Given the description of an element on the screen output the (x, y) to click on. 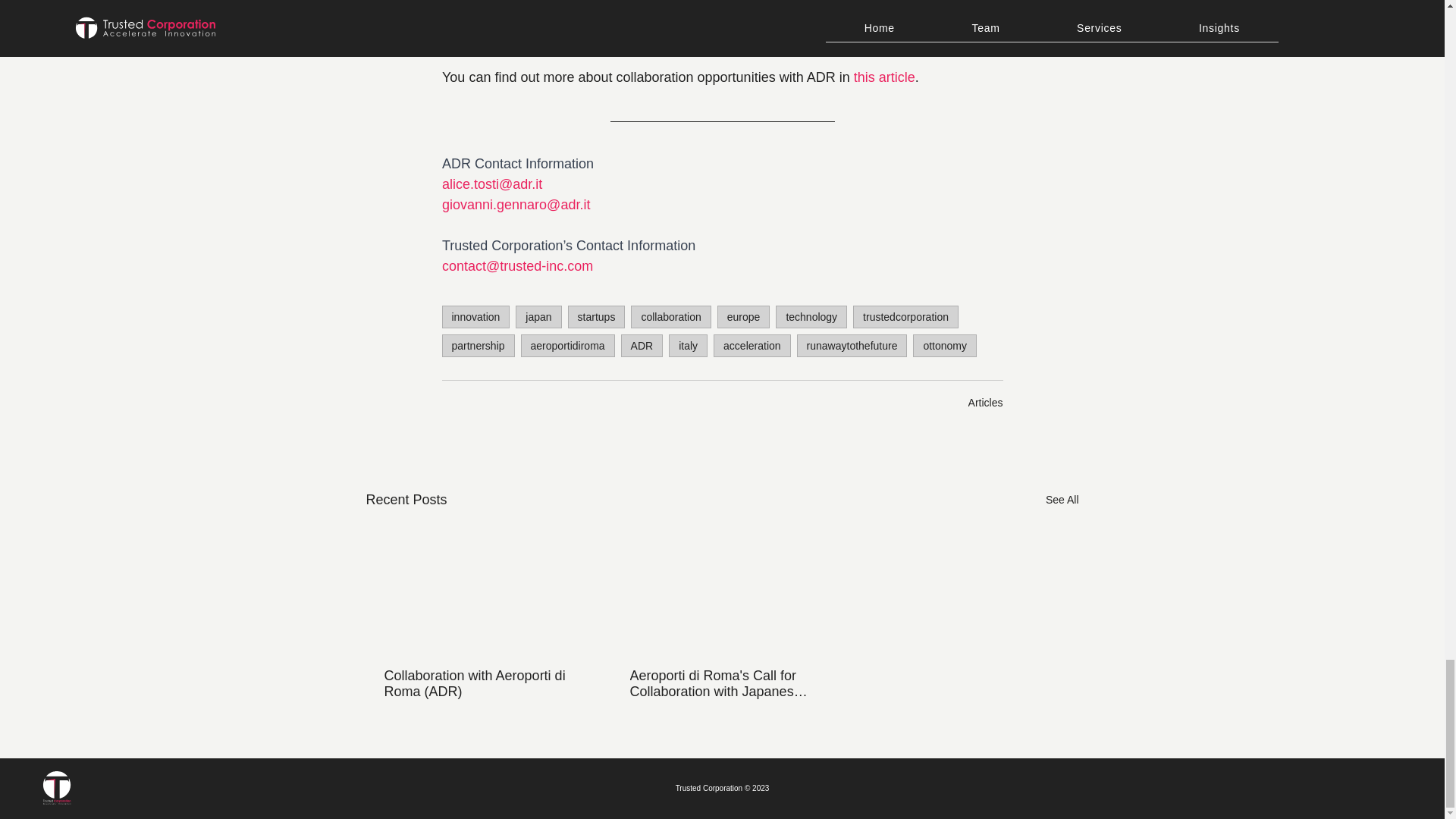
runawaytothefuture (851, 345)
innovation (475, 316)
japan (537, 316)
europe (743, 316)
startups (596, 316)
technology (811, 316)
trustedcorporation (905, 316)
italy (687, 345)
this article (883, 77)
ottonomy (944, 345)
